Given the description of an element on the screen output the (x, y) to click on. 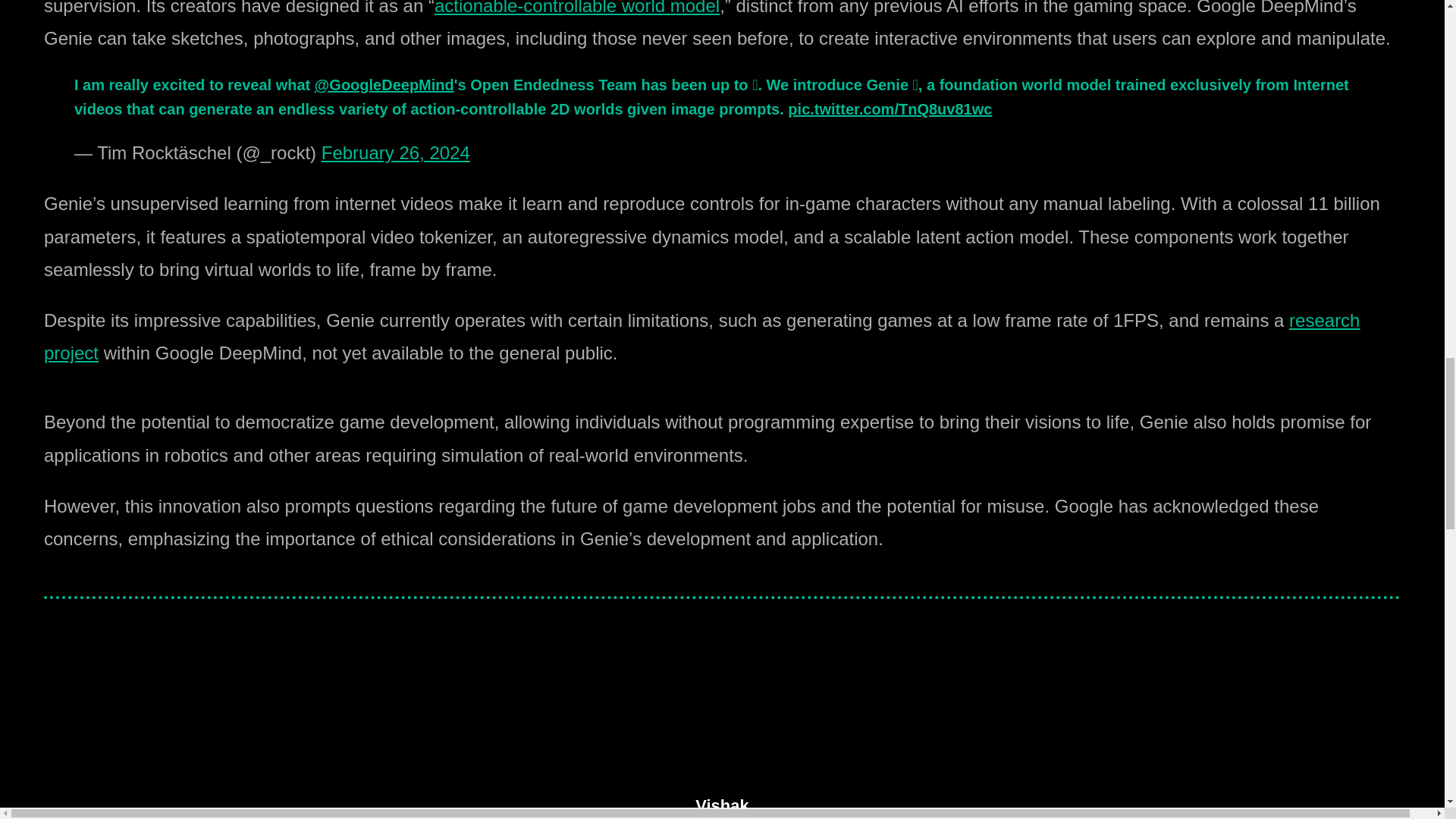
research project (701, 336)
Vishak (721, 736)
actionable-controllable world model (576, 7)
February 26, 2024 (395, 152)
